Given the description of an element on the screen output the (x, y) to click on. 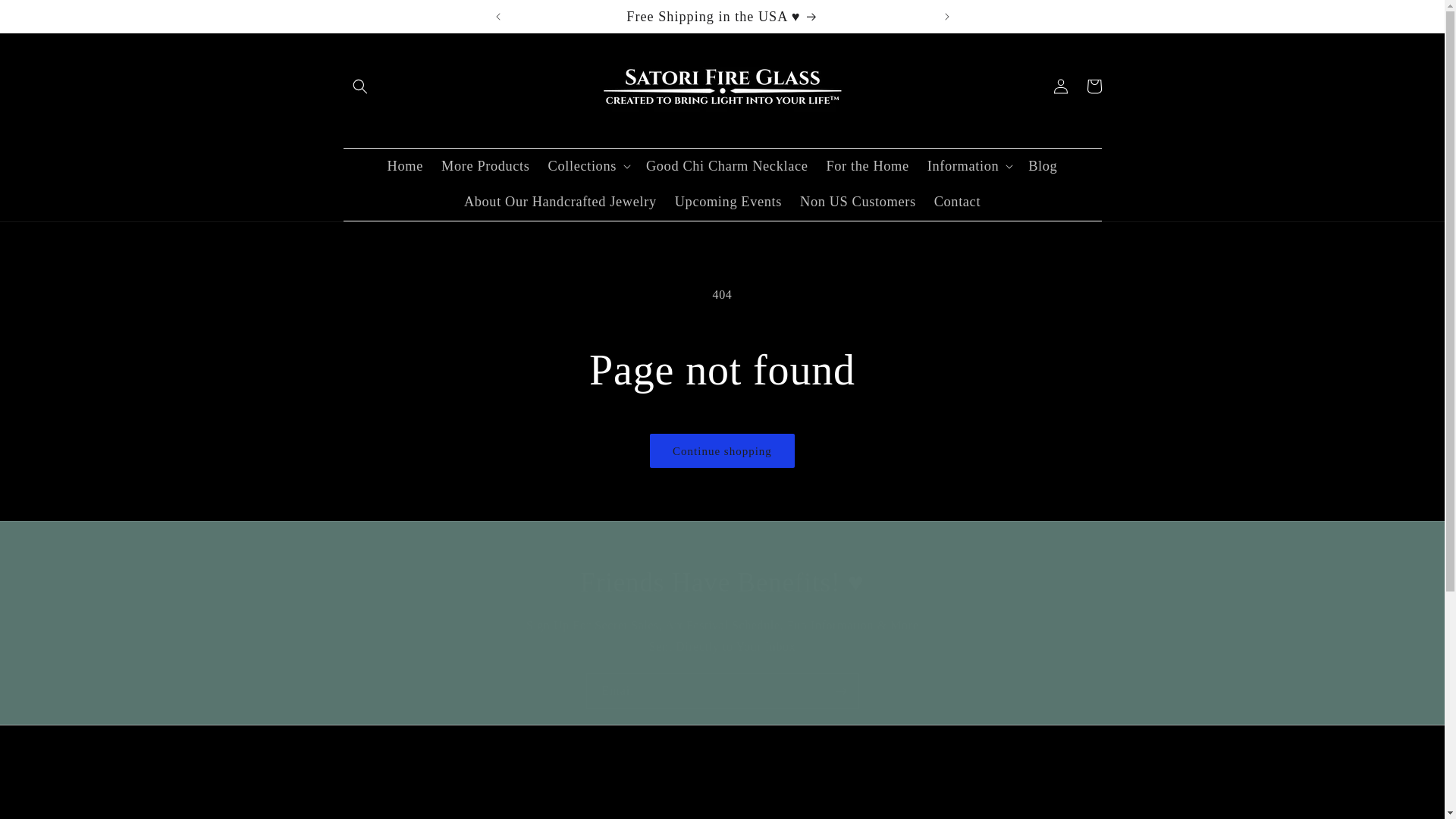
Skip to content (45, 16)
Email (722, 691)
